Given the description of an element on the screen output the (x, y) to click on. 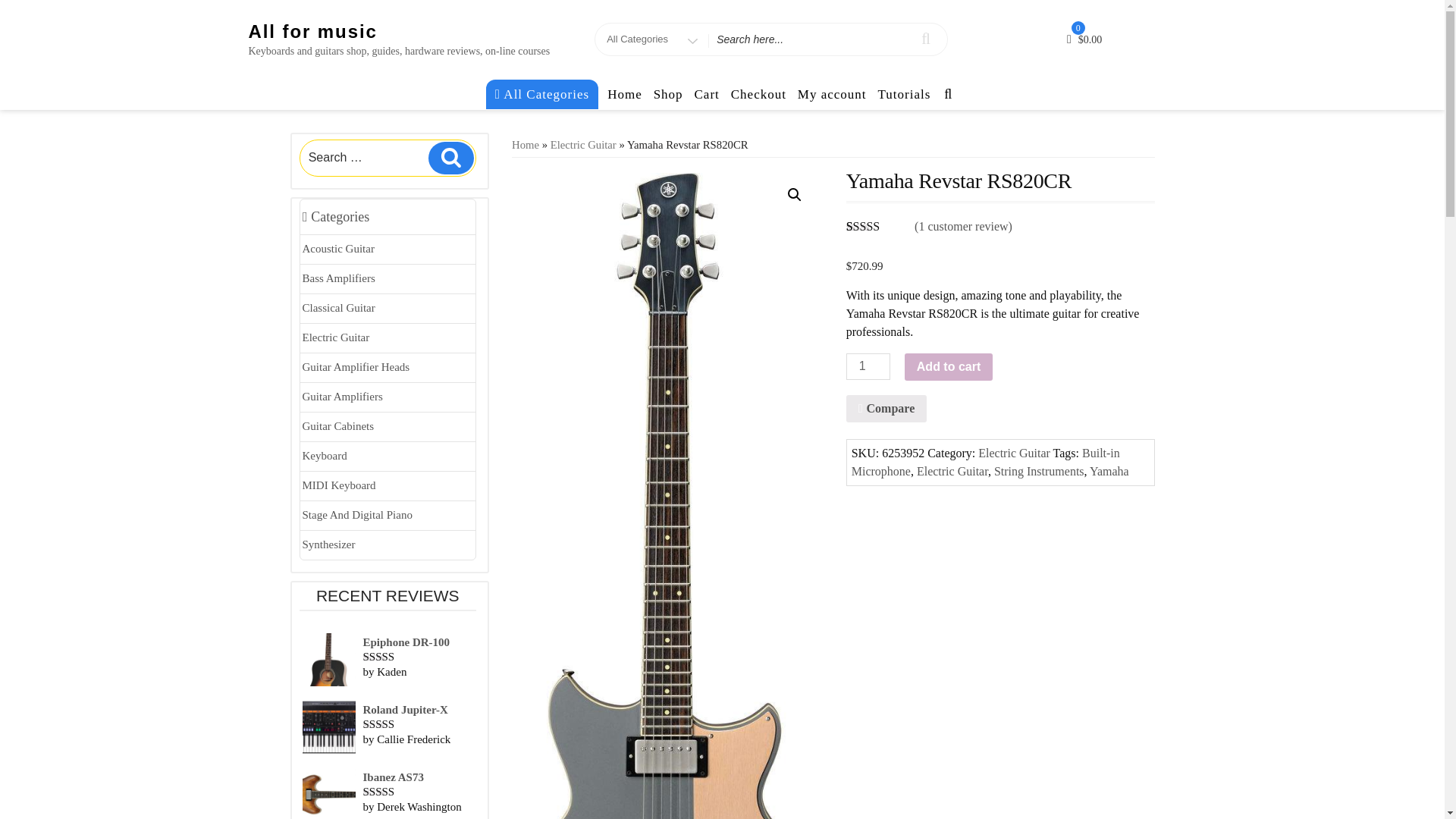
Acoustic Guitar (387, 248)
Stage And Digital Piano (387, 514)
All for music (312, 31)
MIDI Keyboard (387, 485)
Checkout (758, 93)
Guitar Amplifier Heads (387, 367)
Cart View (1086, 38)
Bass Amplifiers (387, 278)
Search (451, 157)
 All Categories (542, 93)
Keyboard (387, 455)
Home (625, 93)
Cart (706, 93)
Categories (387, 217)
